Given the description of an element on the screen output the (x, y) to click on. 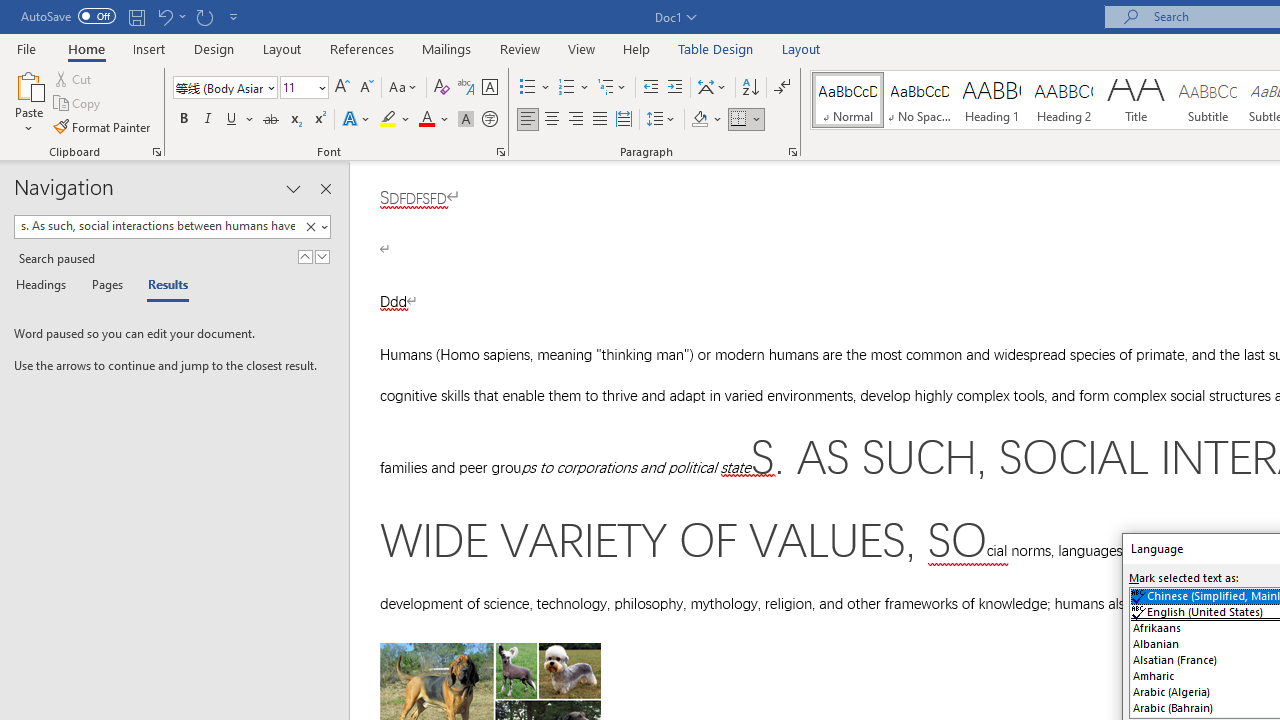
Undo Style (170, 15)
Undo Style (164, 15)
